Given the description of an element on the screen output the (x, y) to click on. 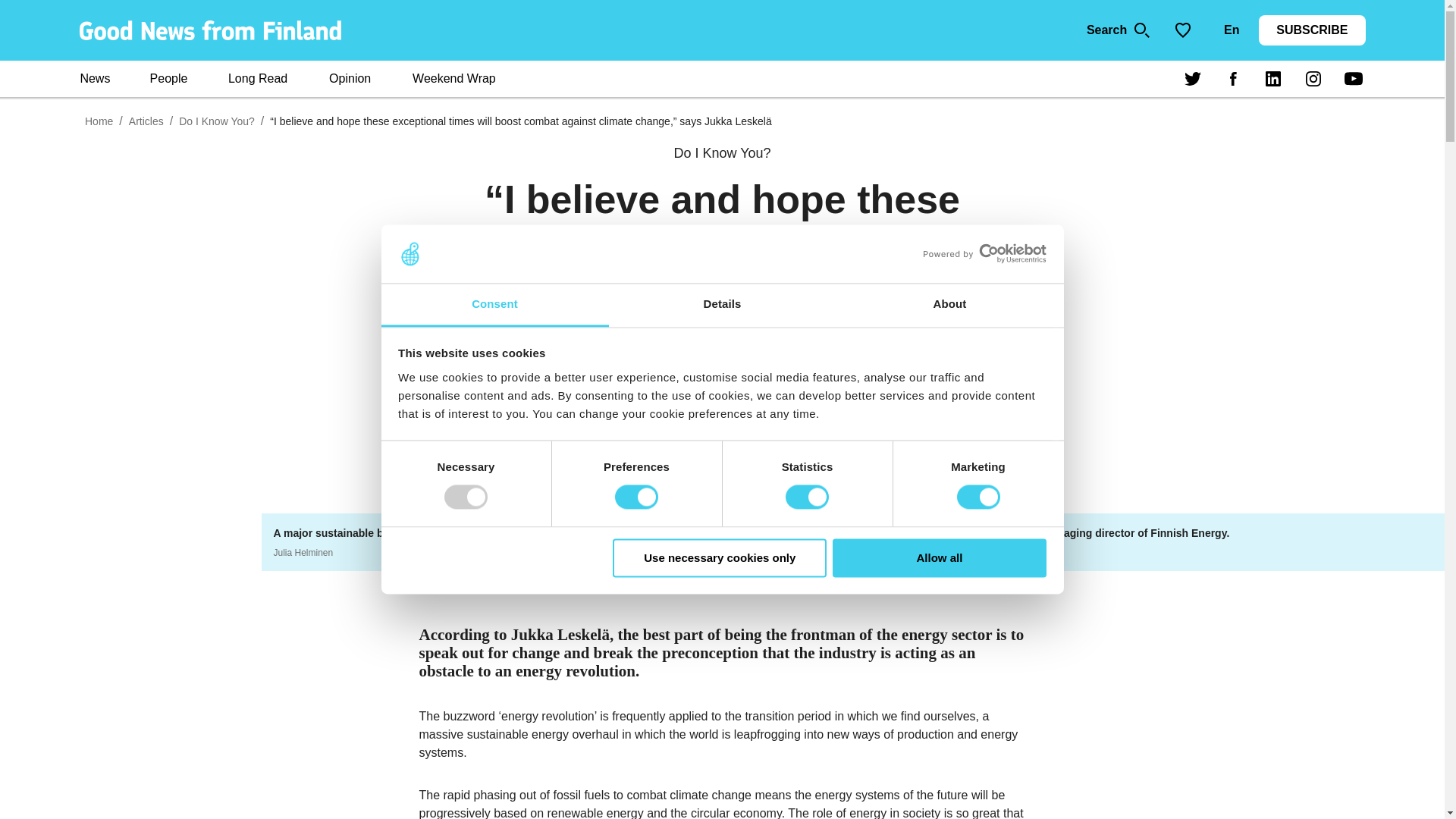
Consent (494, 304)
Details (721, 304)
About (948, 304)
